Given the description of an element on the screen output the (x, y) to click on. 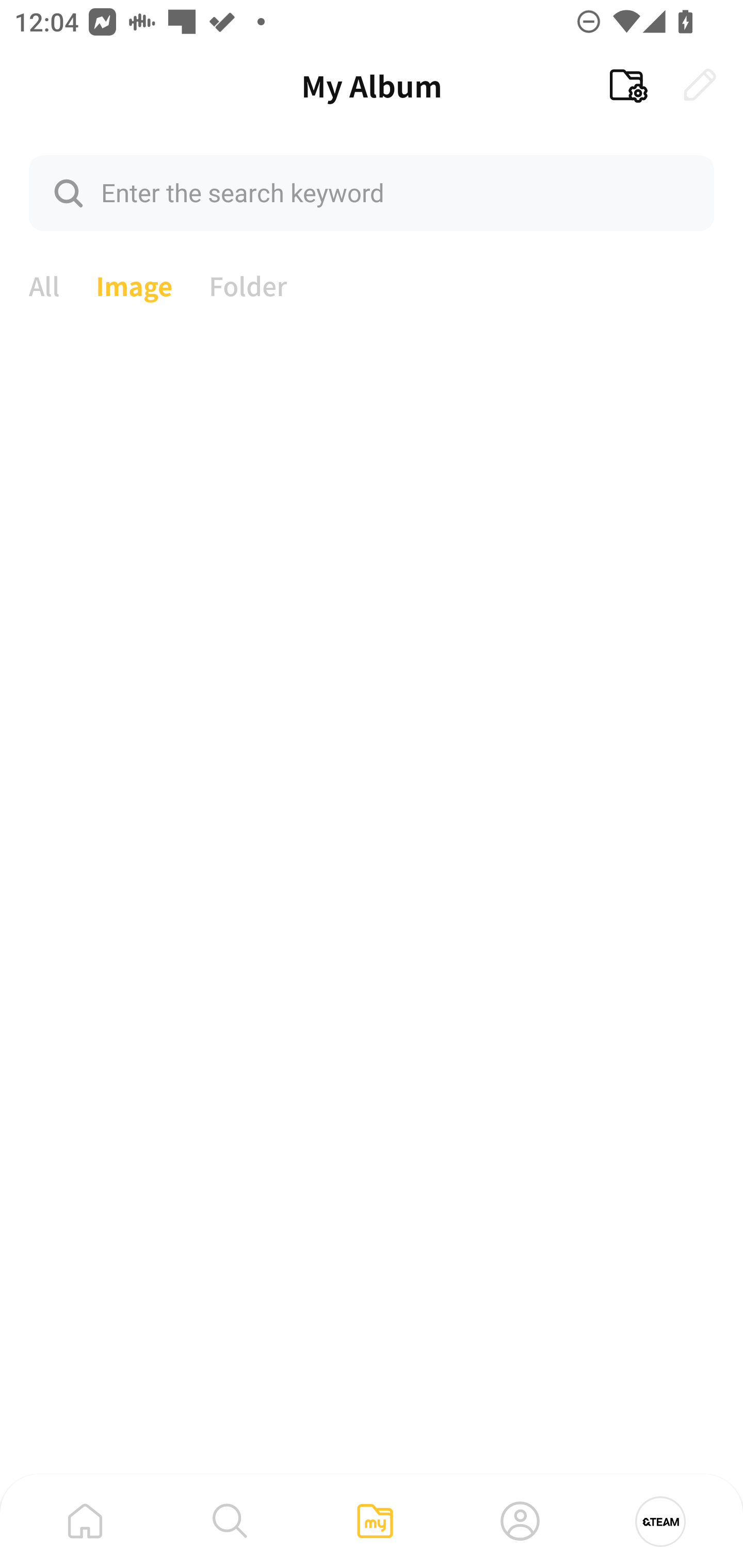
Enter the search keyword (371, 192)
All (44, 284)
Image (134, 284)
Folder (247, 284)
